Given the description of an element on the screen output the (x, y) to click on. 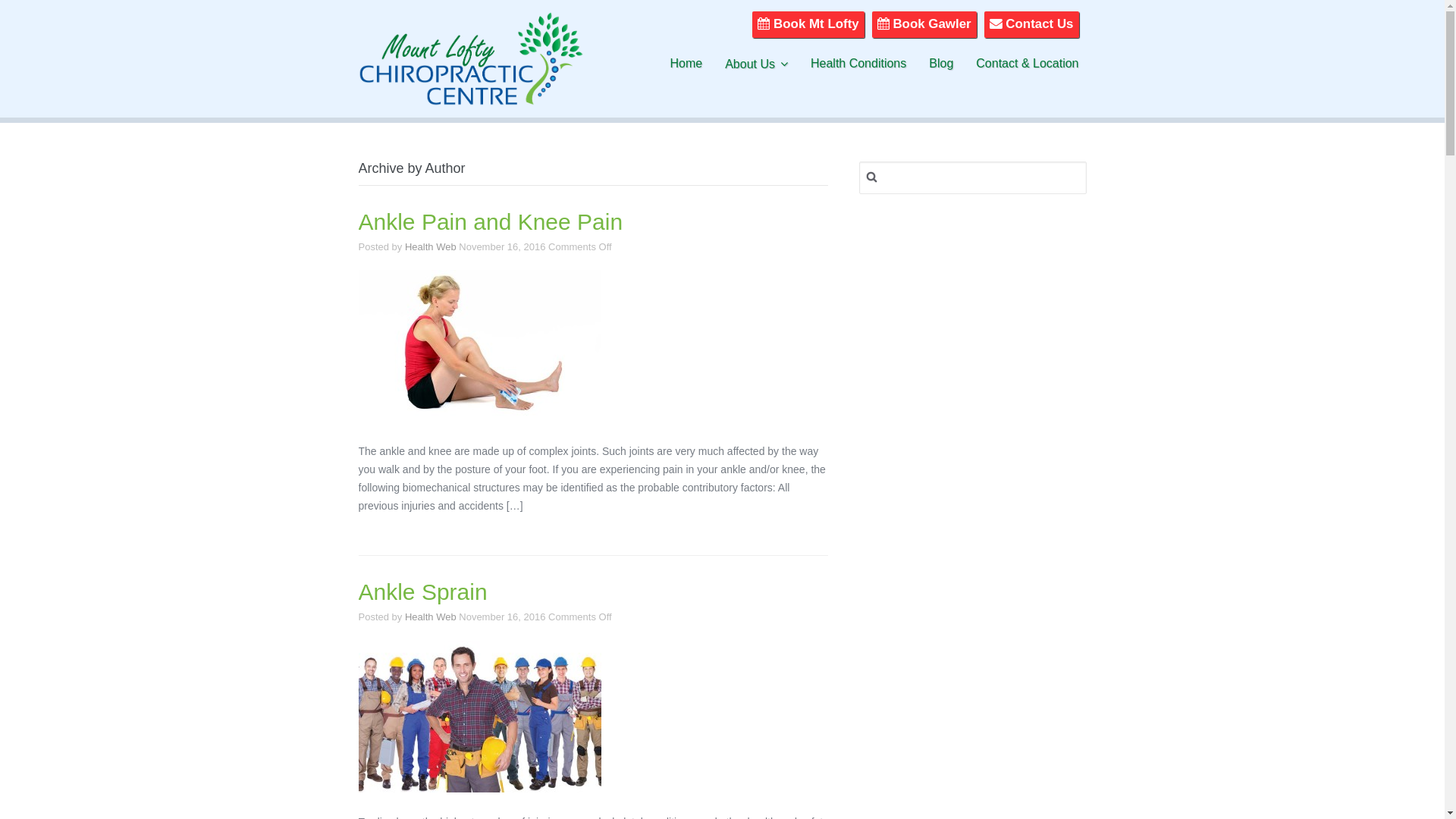
Ankle Pain and Knee Pain Element type: text (489, 222)
Book Gawler Element type: text (924, 24)
Health Conditions Element type: text (858, 63)
Health Web Element type: text (430, 247)
Home Element type: text (685, 63)
Permanent Link to Ankle Pain and Knee Pain Element type: hover (478, 345)
Search Element type: text (29, 15)
Blog Element type: text (940, 63)
Mt Lofty Chiropractic Element type: hover (470, 94)
Health Web Element type: text (430, 617)
Contact Us Element type: text (1031, 24)
Book Mt Lofty Element type: text (807, 24)
Contact & Location Element type: text (1026, 63)
About Us Element type: text (756, 64)
Ankle Sprain Element type: text (421, 592)
Permanent Link to Ankle Sprain Element type: hover (478, 716)
